Given the description of an element on the screen output the (x, y) to click on. 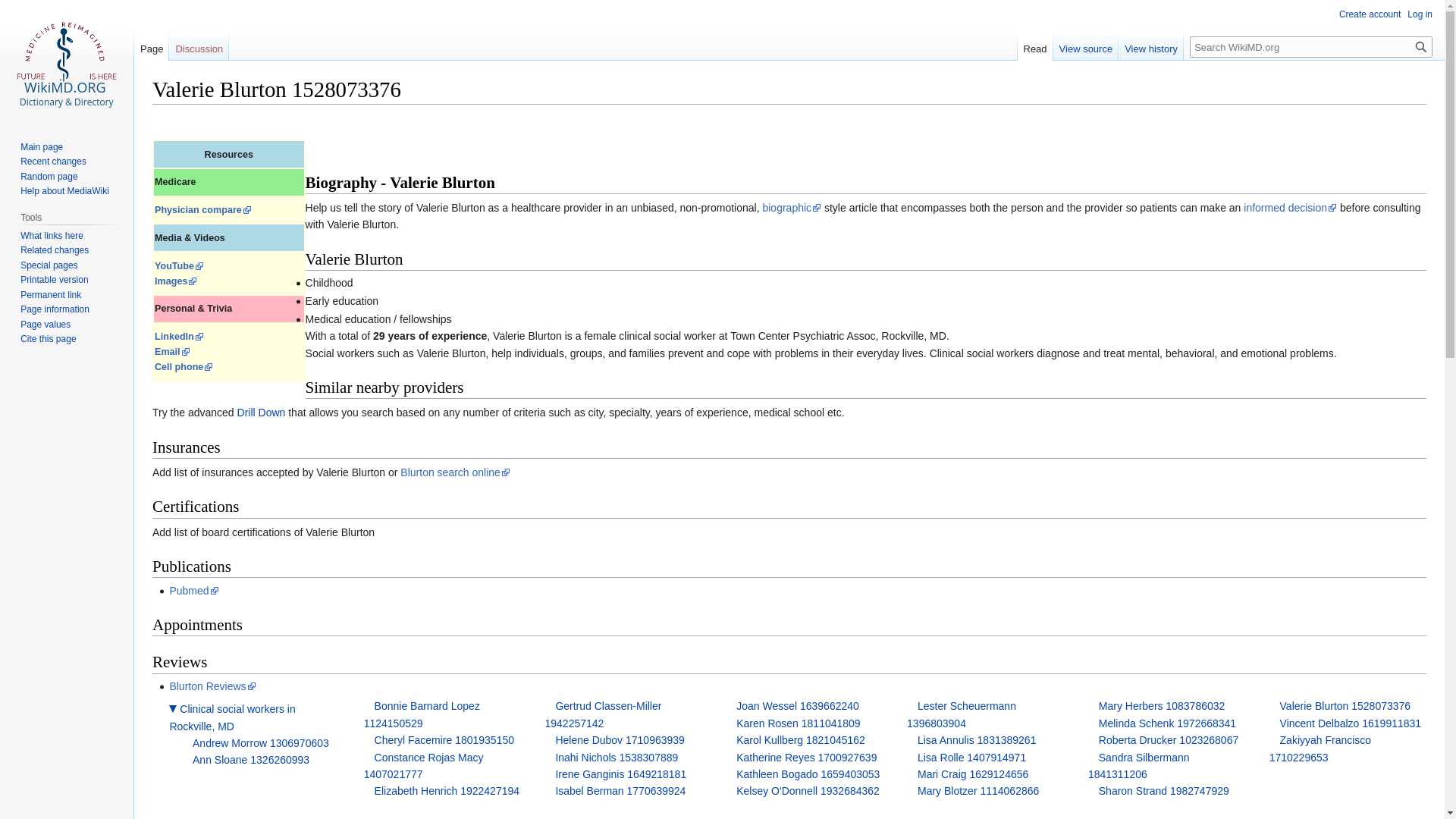
Mary Blotzer 1114062866 (978, 790)
Irene Ganginis 1649218181 (619, 774)
Inahi Nichols 1538307889 (616, 757)
Mary Herbers 1083786032 (1162, 705)
Lisa Rolle 1407914971 (971, 757)
LinkedIn (178, 336)
collapse (172, 708)
Katherine Reyes 1700927639 (806, 757)
Andrew Morrow 1306970603 (260, 743)
biographic (791, 207)
Constance Rojas Macy 1407021777 (423, 765)
Helene Dubov 1710963939 (619, 739)
Kelsey O'Donnell 1932684362 (807, 790)
Lisa Annulis 1831389261 (976, 739)
Drill Down (261, 412)
